Given the description of an element on the screen output the (x, y) to click on. 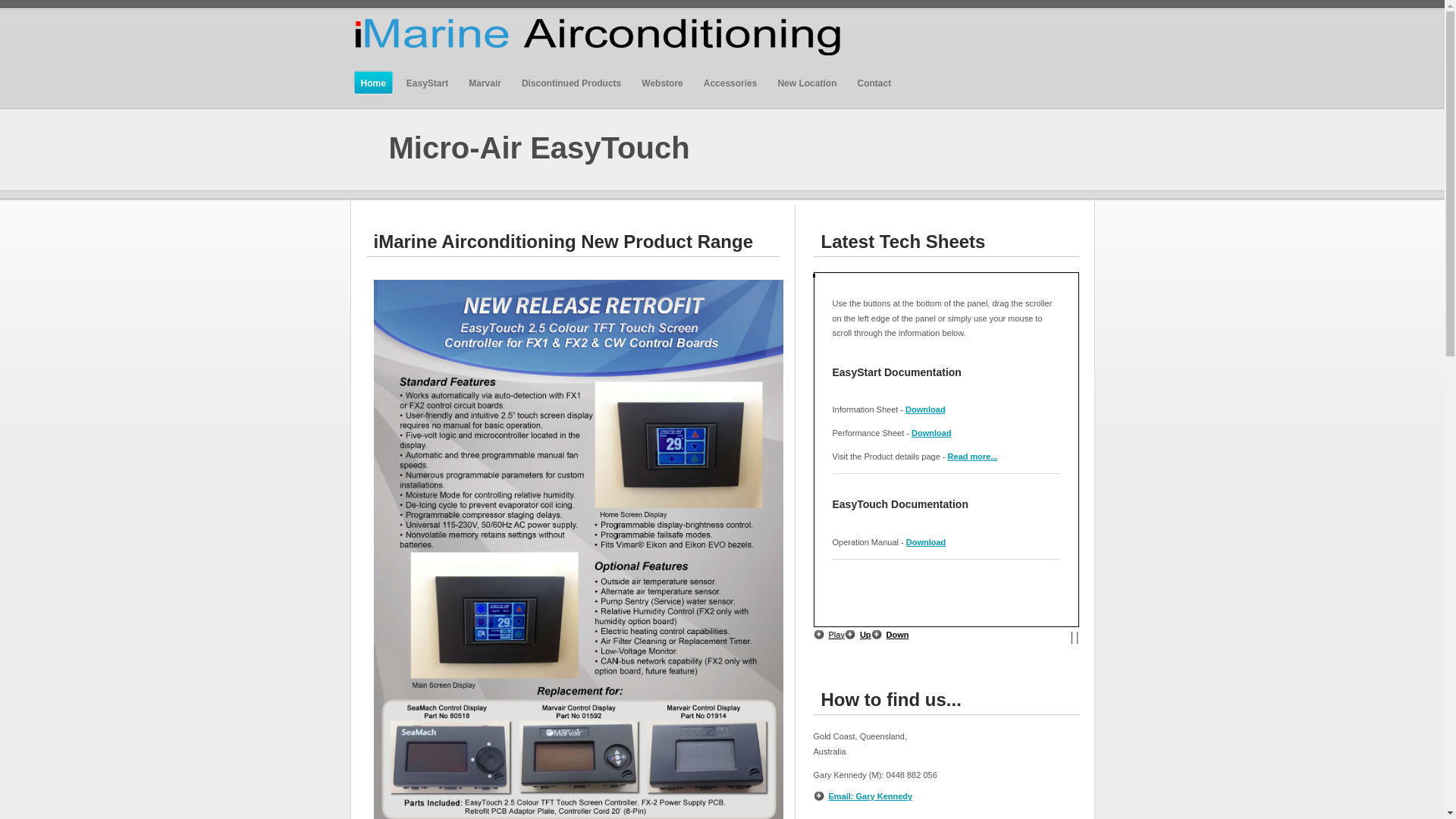
Email: Gary Kennedy Element type: text (862, 795)
Discontinued Products Element type: text (571, 83)
Up Element type: text (857, 634)
EasyStart Element type: text (426, 83)
Read more... Element type: text (972, 456)
Down Element type: text (890, 634)
Webstore Element type: text (661, 83)
Download Element type: text (931, 432)
Download Element type: text (926, 541)
Contact Element type: text (873, 83)
Accessories Element type: text (730, 83)
Marvair Element type: text (484, 83)
New Location Element type: text (806, 83)
Download Element type: text (925, 409)
Play Element type: text (828, 634)
Home Element type: text (373, 83)
